Given the description of an element on the screen output the (x, y) to click on. 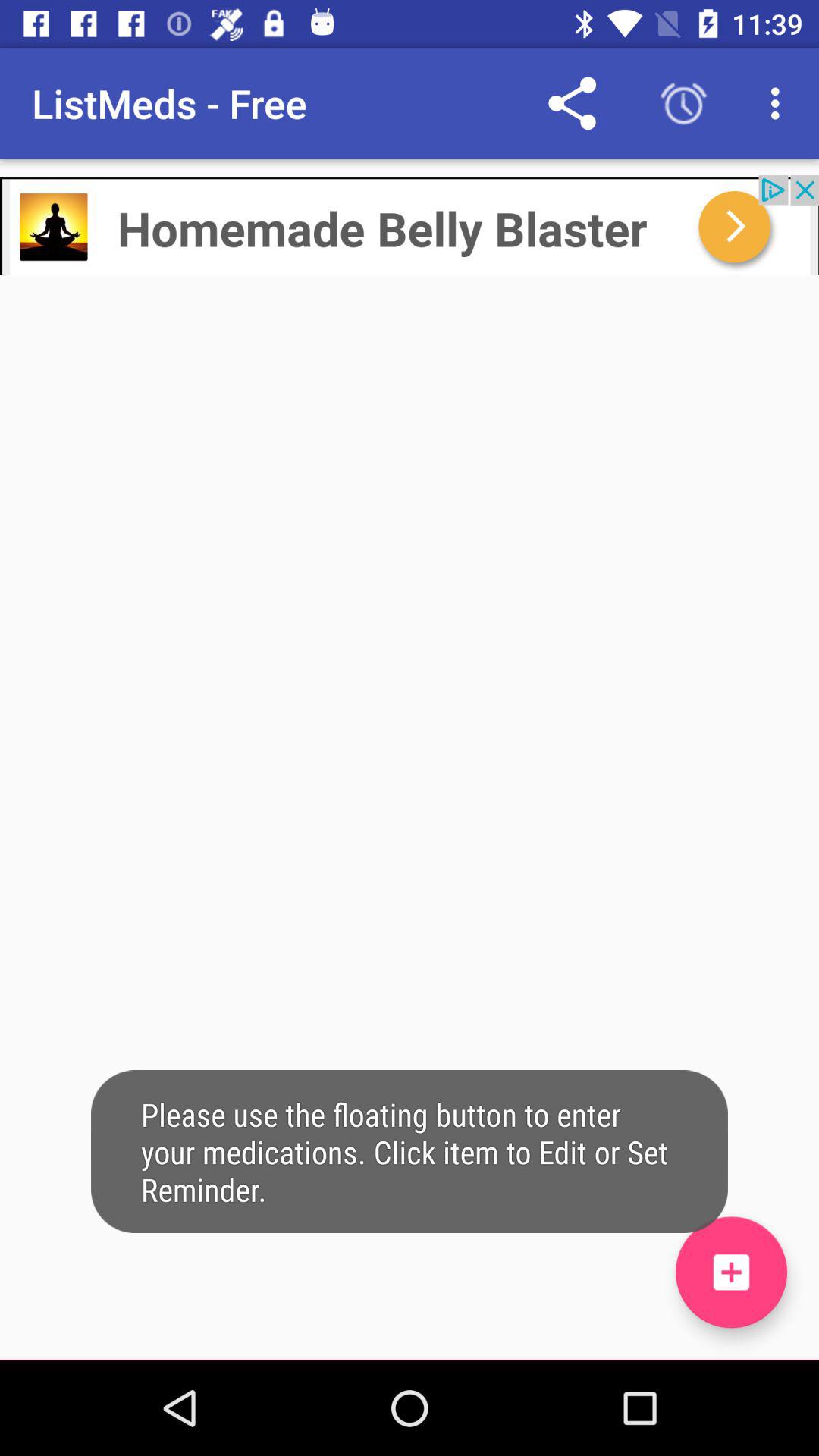
click advertisement (409, 224)
